Given the description of an element on the screen output the (x, y) to click on. 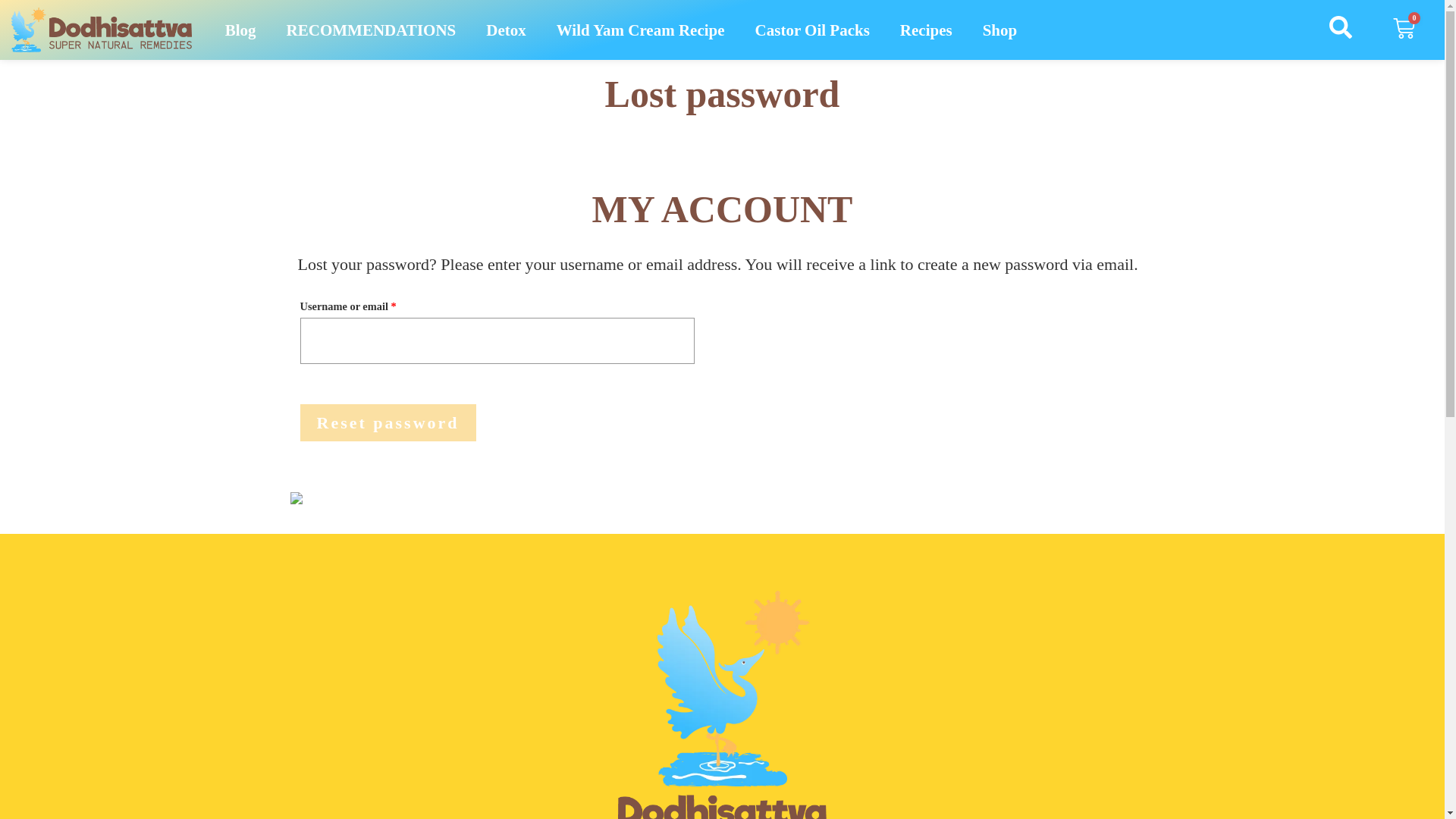
Recipes (926, 30)
RECOMMENDATIONS (370, 30)
Castor Oil Packs (812, 30)
Blog (239, 30)
Detox (505, 30)
Wild Yam Cream Recipe (640, 30)
Shop (1000, 30)
